Given the description of an element on the screen output the (x, y) to click on. 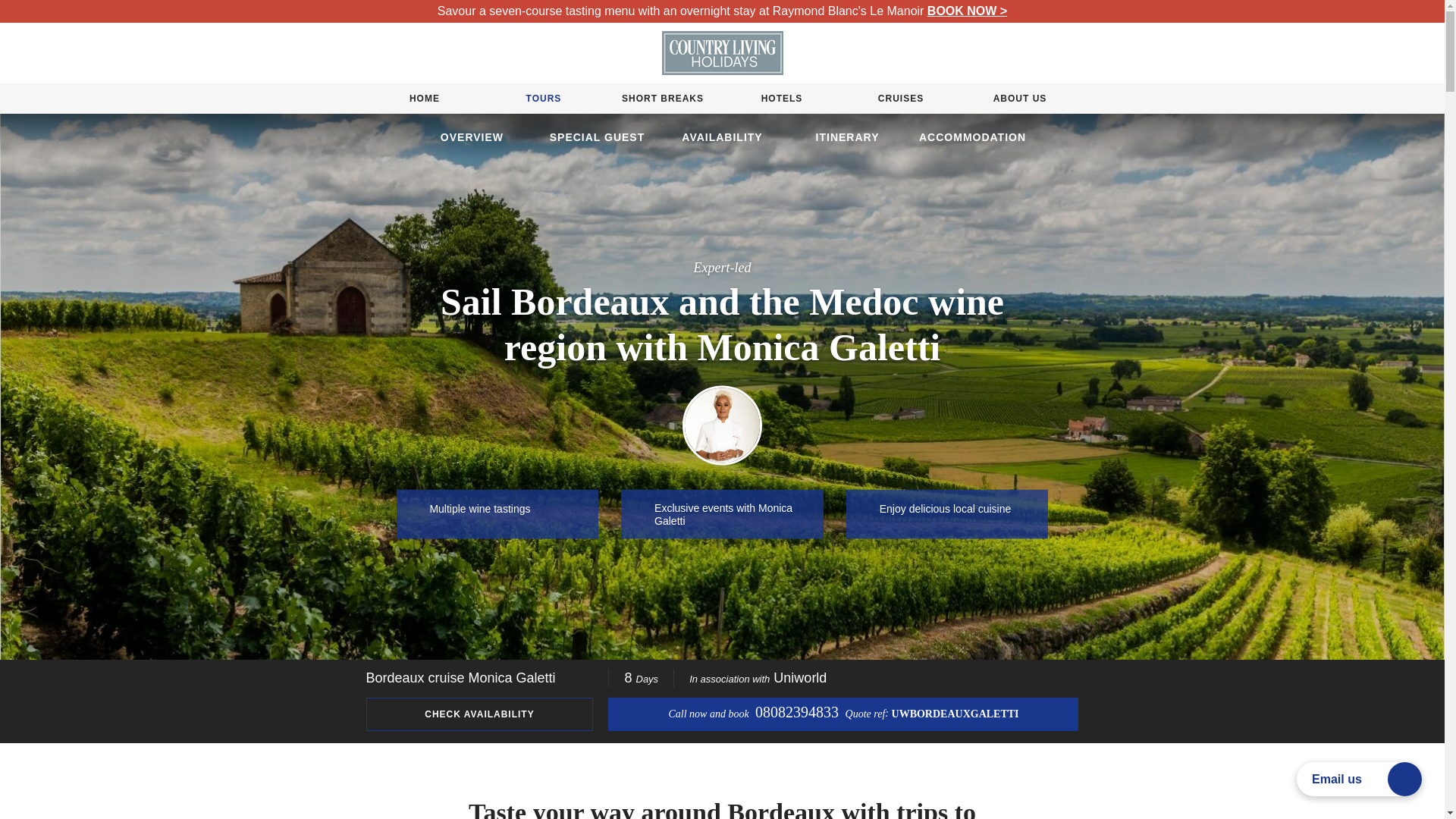
AVAILABILITY (721, 137)
ITINERARY (847, 137)
Email us (1359, 779)
HOME (424, 98)
CHECK AVAILABILITY (478, 714)
ABOUT US (1020, 98)
SHORT BREAKS (662, 98)
ACCOMMODATION (972, 137)
OVERVIEW (471, 137)
CRUISES (901, 98)
